Given the description of an element on the screen output the (x, y) to click on. 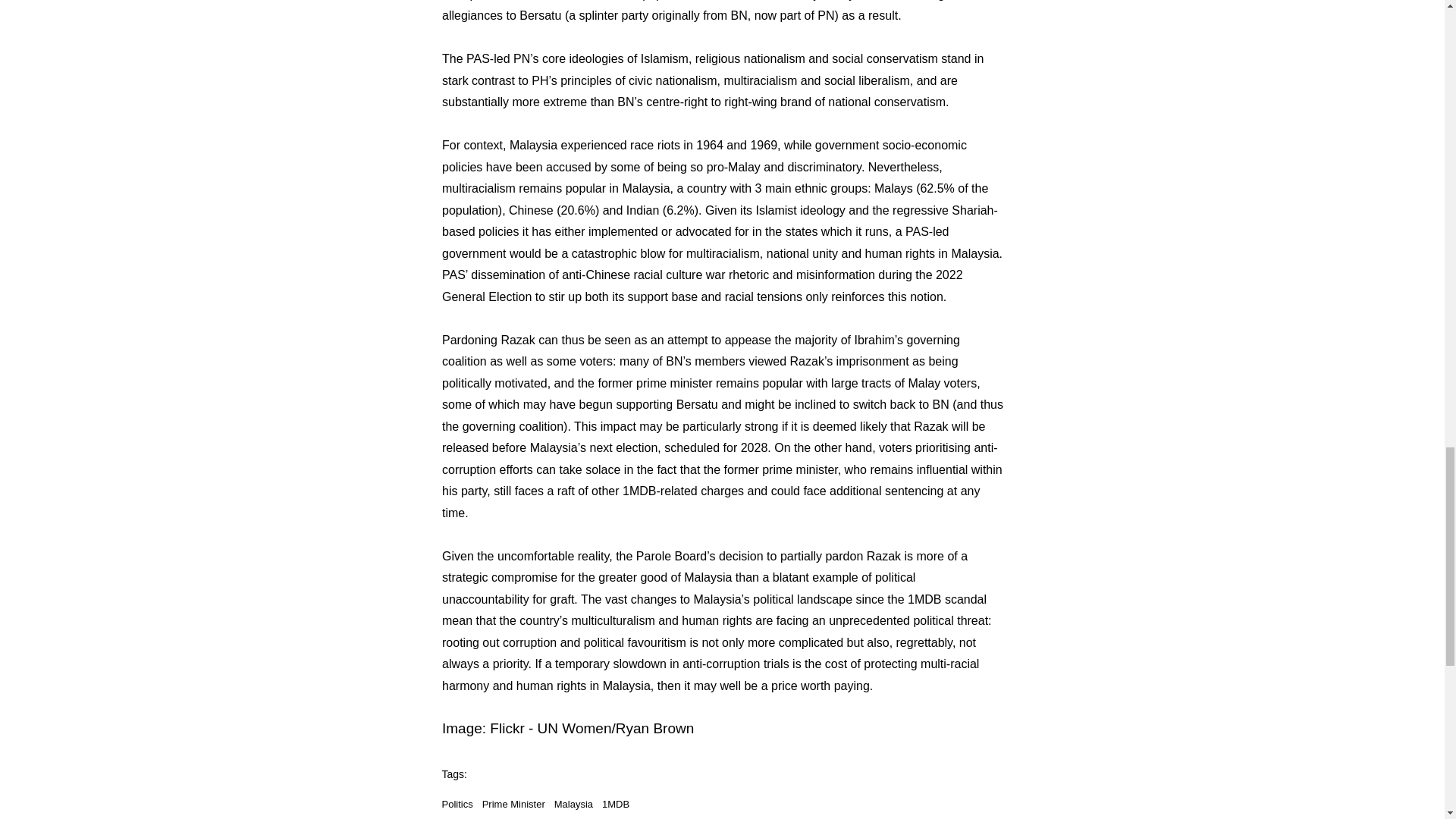
Politics (456, 803)
1MDB (615, 803)
Prime Minister (512, 803)
Malaysia (573, 803)
